Given the description of an element on the screen output the (x, y) to click on. 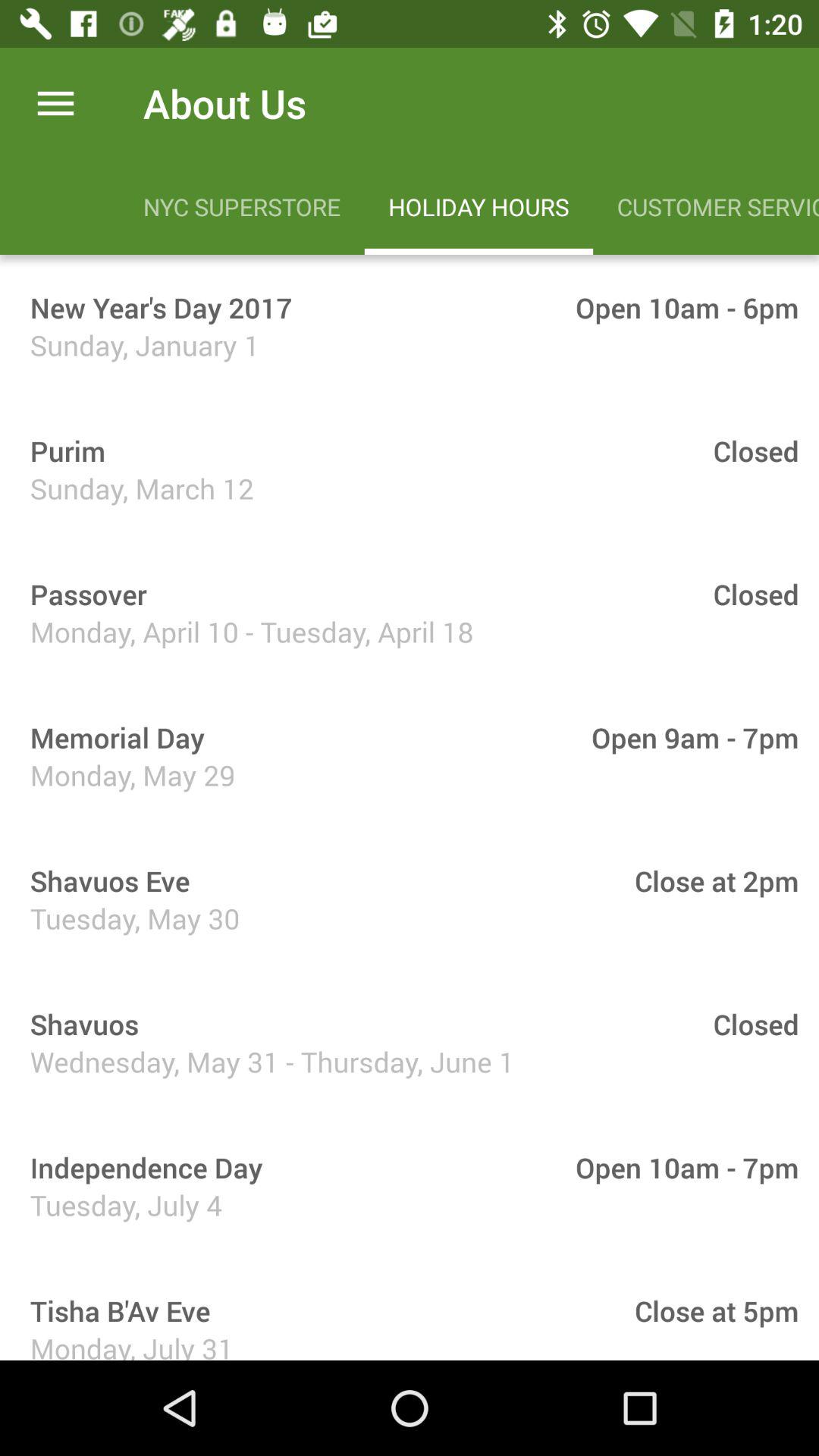
click the item next to close at 5pm item (114, 1310)
